Given the description of an element on the screen output the (x, y) to click on. 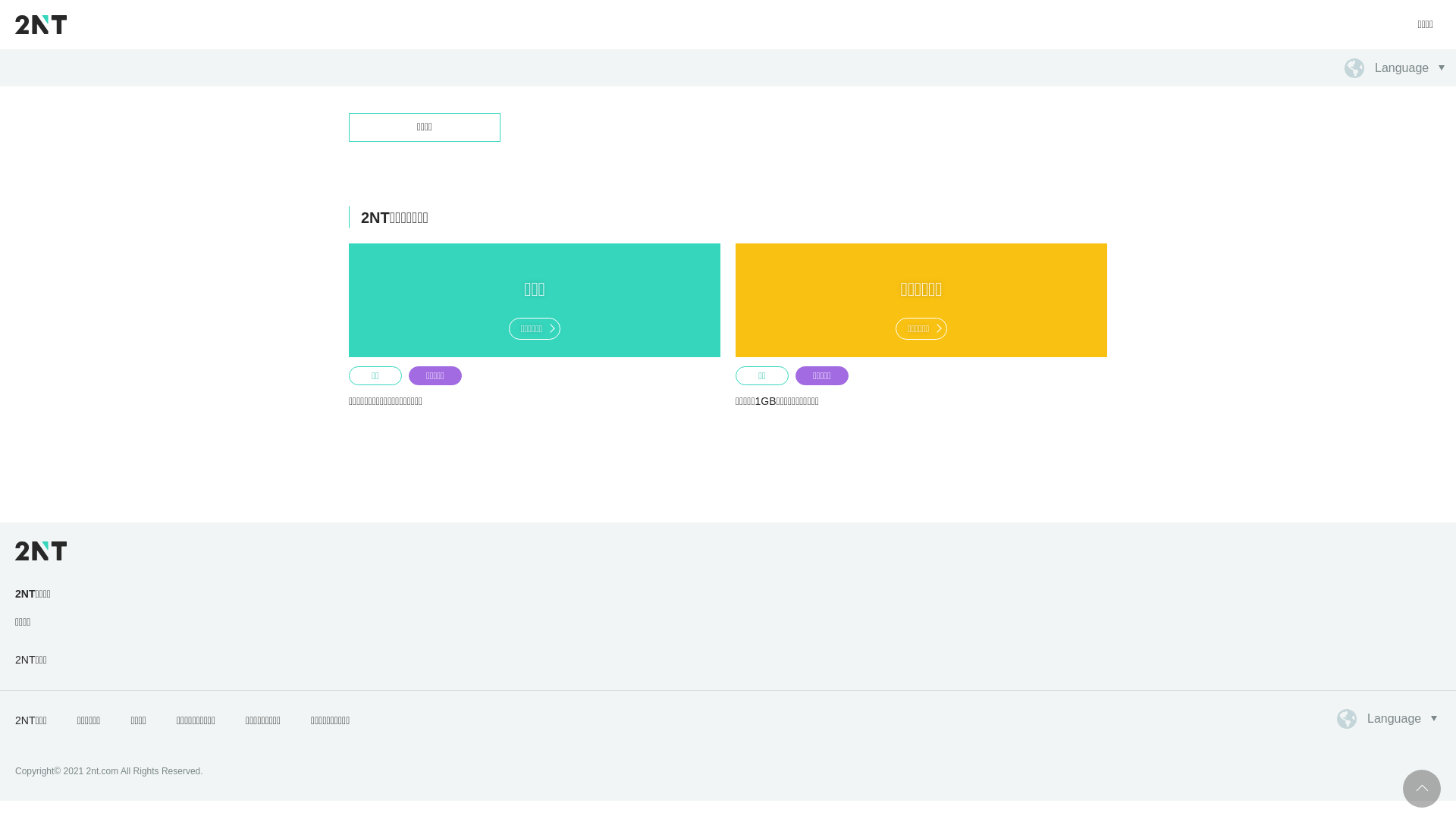
2NT Element type: hover (40, 24)
